Given the description of an element on the screen output the (x, y) to click on. 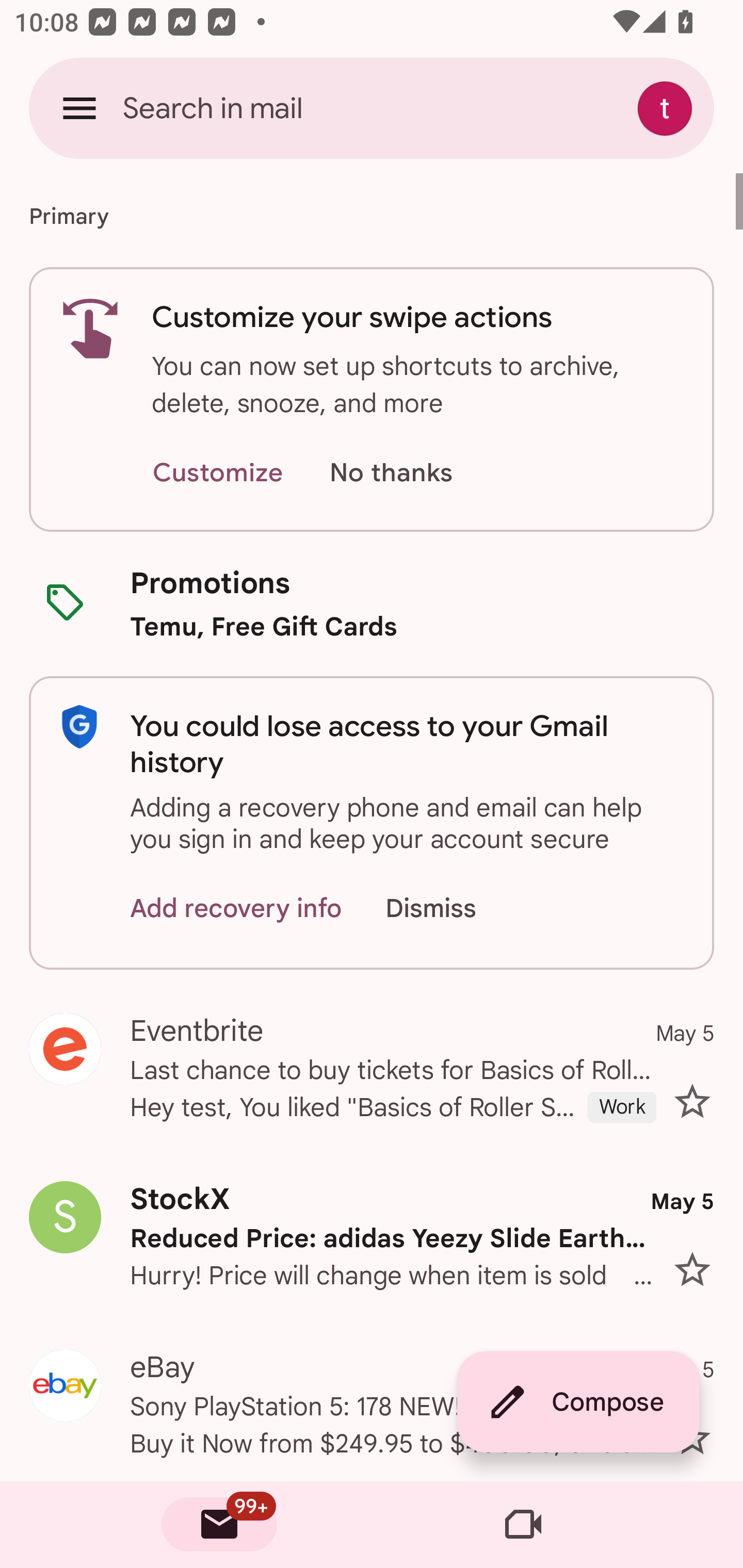
Open navigation drawer (79, 108)
Customize (217, 473)
No thanks (390, 473)
Promotions Temu, Free Gift Cards (371, 603)
Add recovery info (235, 908)
Dismiss (449, 908)
Compose (577, 1401)
Meet (523, 1524)
